Given the description of an element on the screen output the (x, y) to click on. 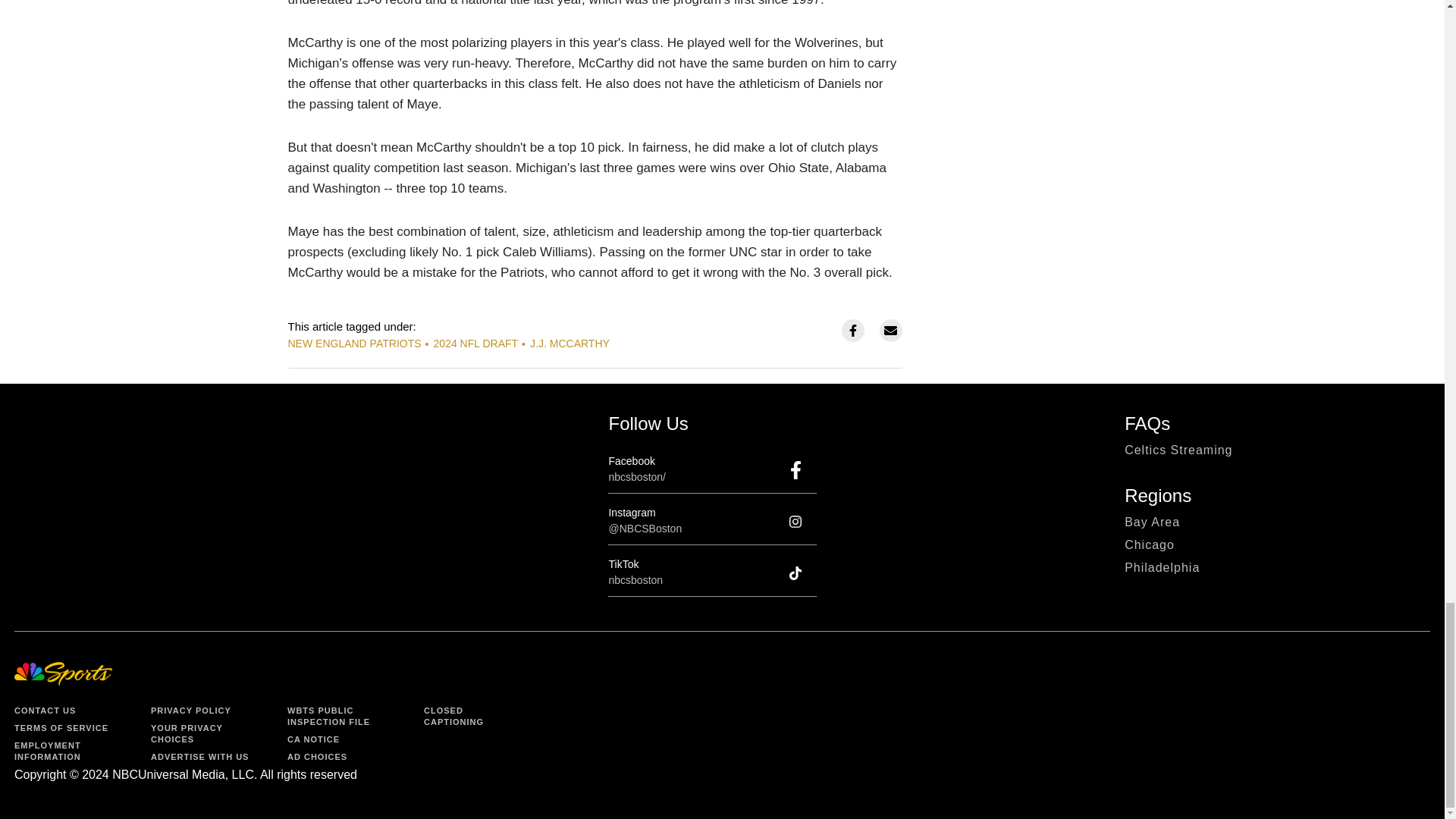
NEW ENGLAND PATRIOTS (355, 343)
2024 NFL DRAFT (475, 343)
J.J. MCCARTHY (569, 343)
